Given the description of an element on the screen output the (x, y) to click on. 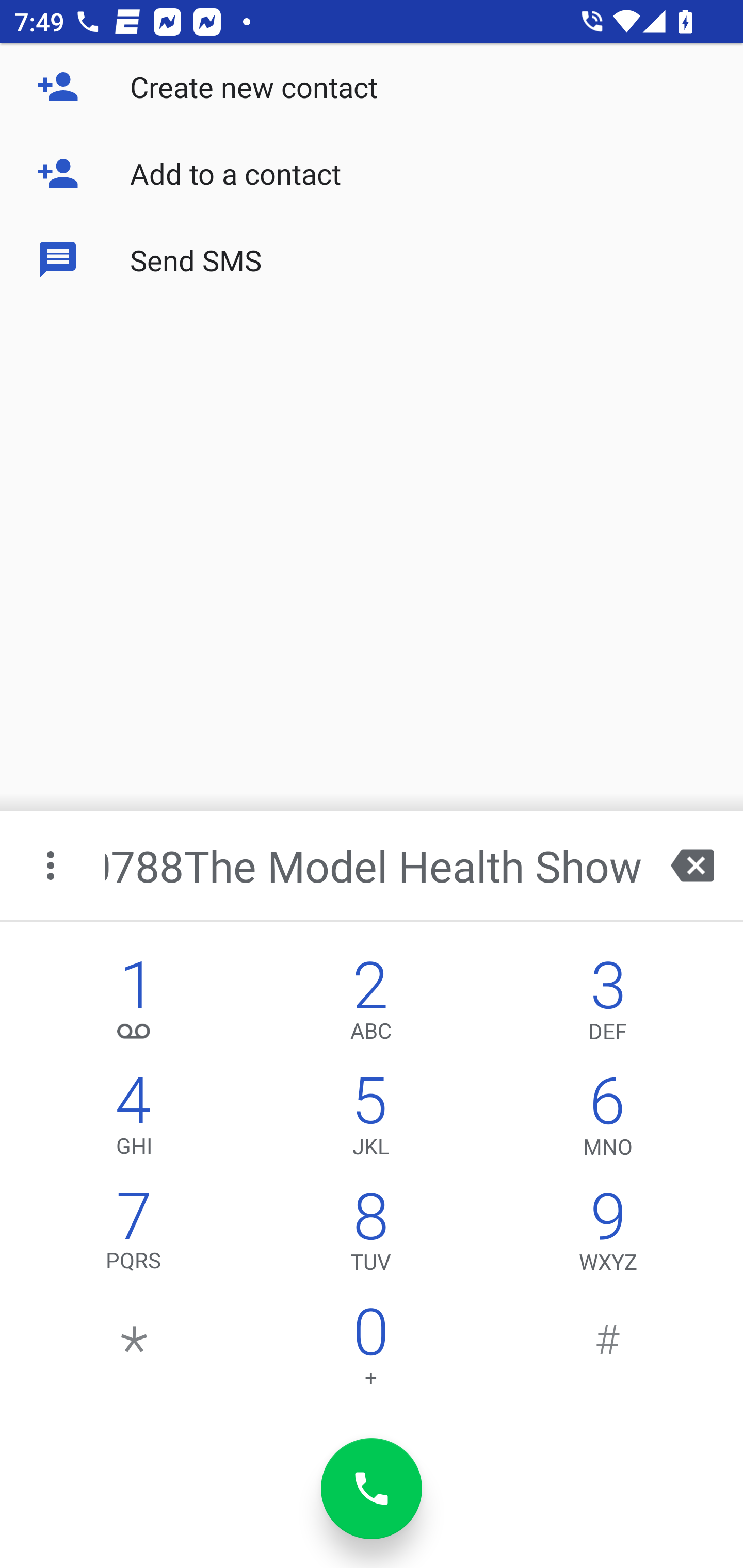
Create new contact (371, 86)
Add to a contact (371, 173)
Send SMS (371, 259)
24940788The Model Health Show (372, 865)
backspace (692, 865)
More options (52, 865)
1, 1 (133, 1005)
2,ABC 2 ABC (370, 1005)
3,DEF 3 DEF (607, 1005)
4,GHI 4 GHI (133, 1120)
5,JKL 5 JKL (370, 1120)
6,MNO 6 MNO (607, 1120)
7,PQRS 7 PQRS (133, 1235)
8,TUV 8 TUV (370, 1235)
9,WXYZ 9 WXYZ (607, 1235)
* (133, 1351)
0 0 + (370, 1351)
# (607, 1351)
dial (371, 1488)
